Given the description of an element on the screen output the (x, y) to click on. 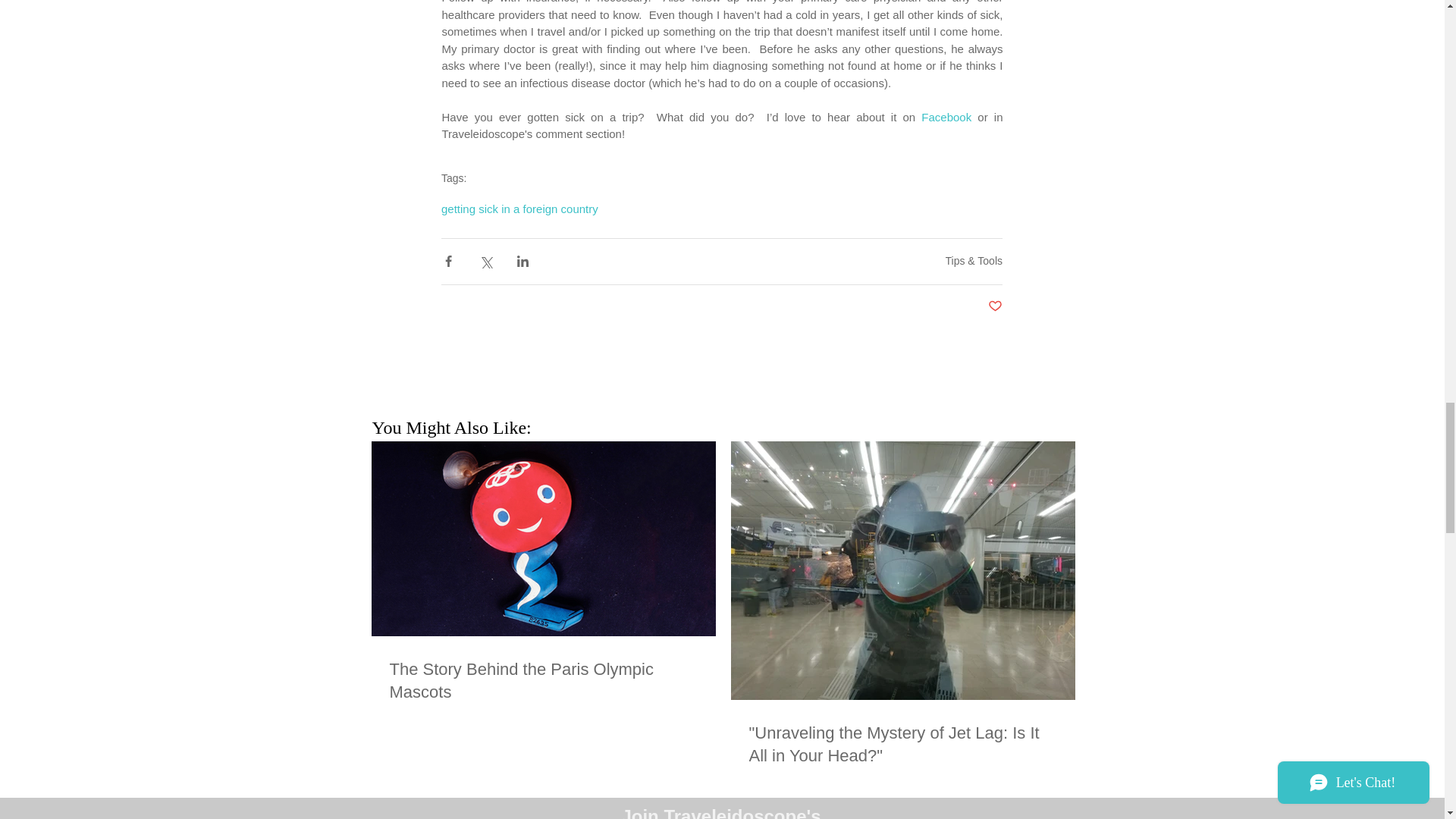
getting sick in a foreign country (519, 207)
Facebook (946, 116)
Post not marked as liked (995, 306)
